Given the description of an element on the screen output the (x, y) to click on. 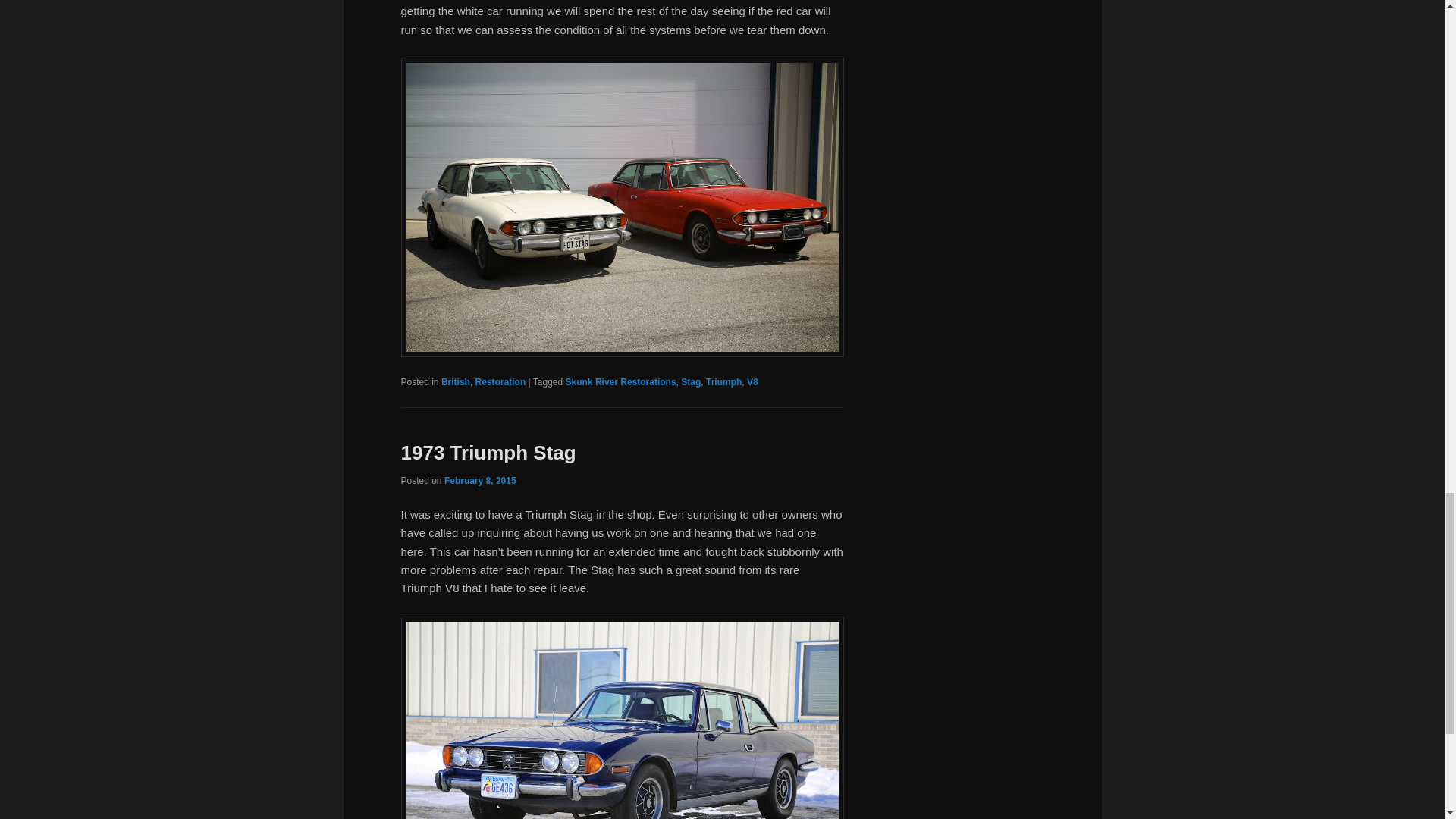
12:00 pm (480, 480)
